Given the description of an element on the screen output the (x, y) to click on. 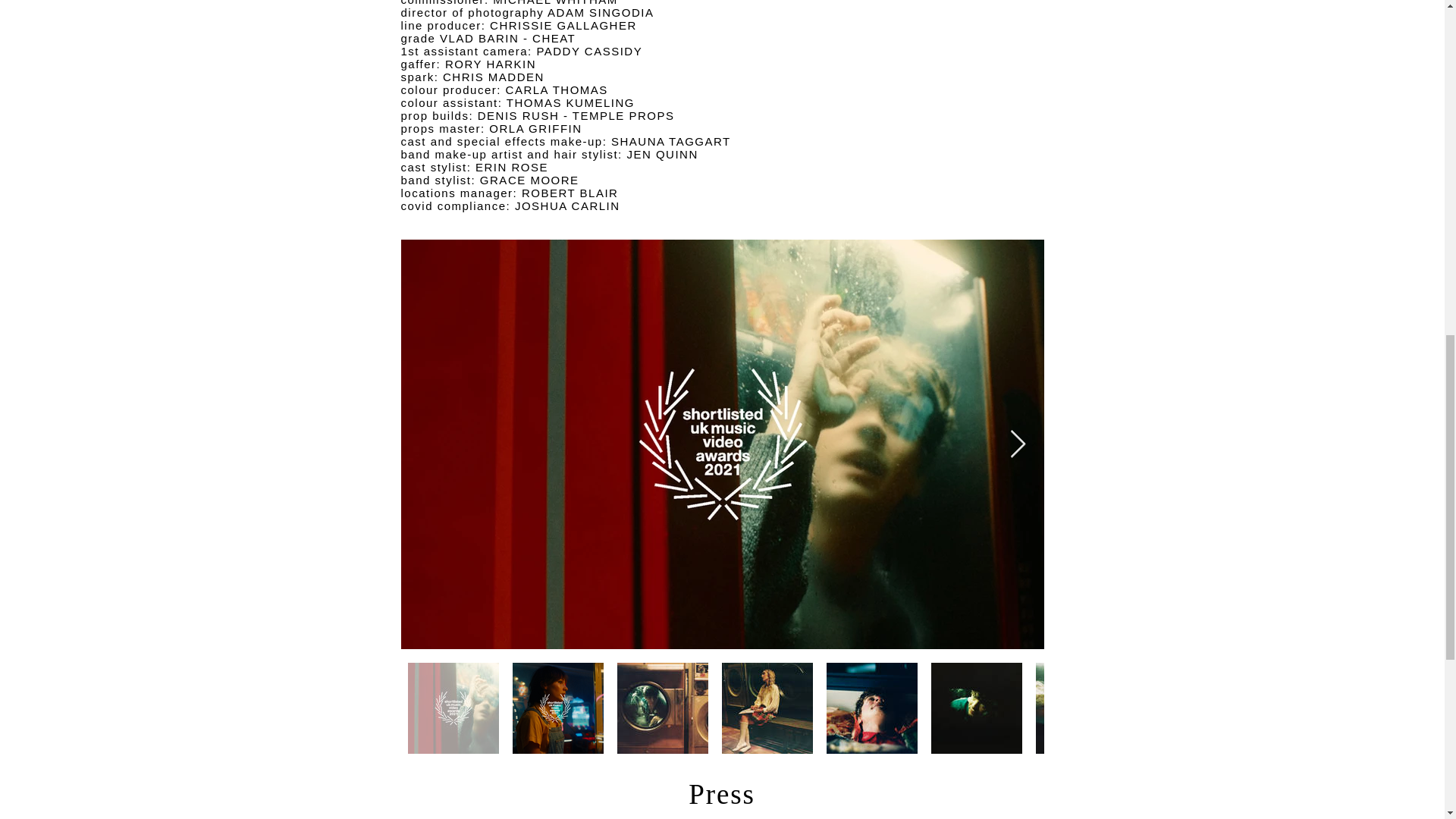
THOMAS KUMELING (570, 102)
